Given the description of an element on the screen output the (x, y) to click on. 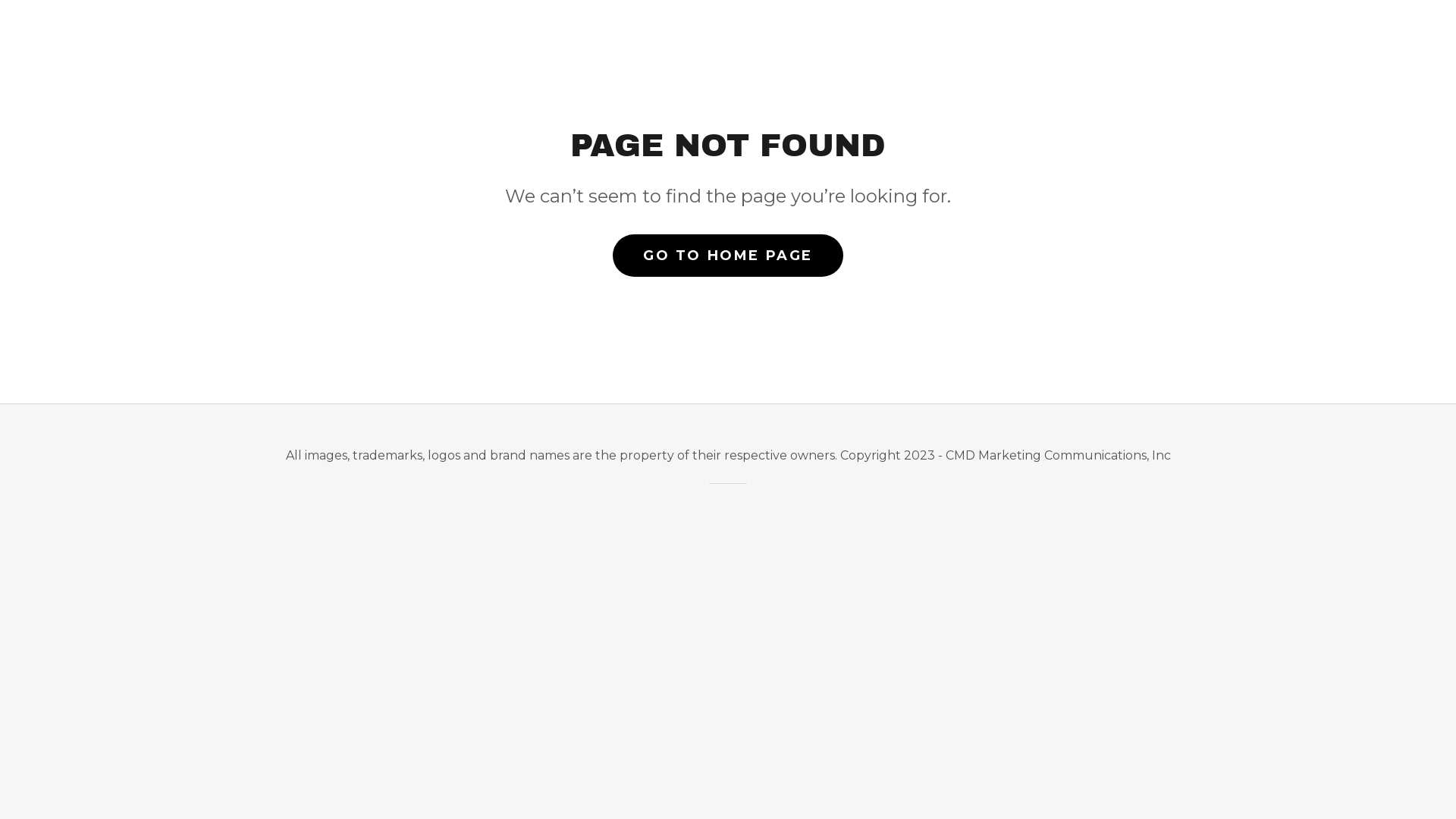
GO TO HOME PAGE Element type: text (727, 255)
